Given the description of an element on the screen output the (x, y) to click on. 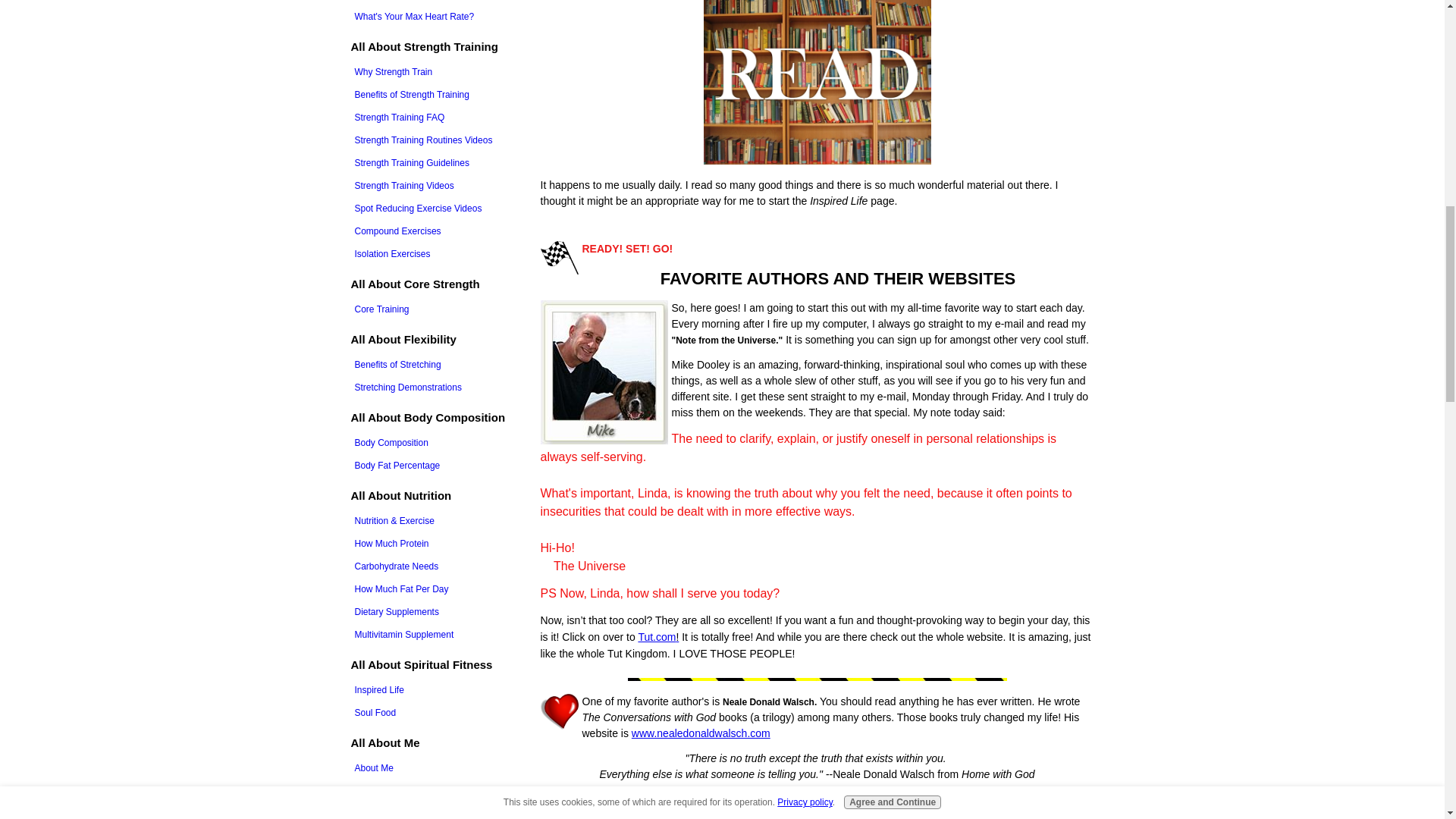
Compound Exercises (437, 230)
Benefits of Strength Training (437, 93)
Target Heart Rate (437, 2)
Strength Training Guidelines (437, 161)
Spot Reducing Exercise Videos (437, 207)
Strength Training Routines Videos (437, 138)
Tut.com! (657, 637)
Strength Training Videos (437, 184)
Why Strength Train (437, 70)
www.nealedonaldwalsch.com (700, 733)
